Given the description of an element on the screen output the (x, y) to click on. 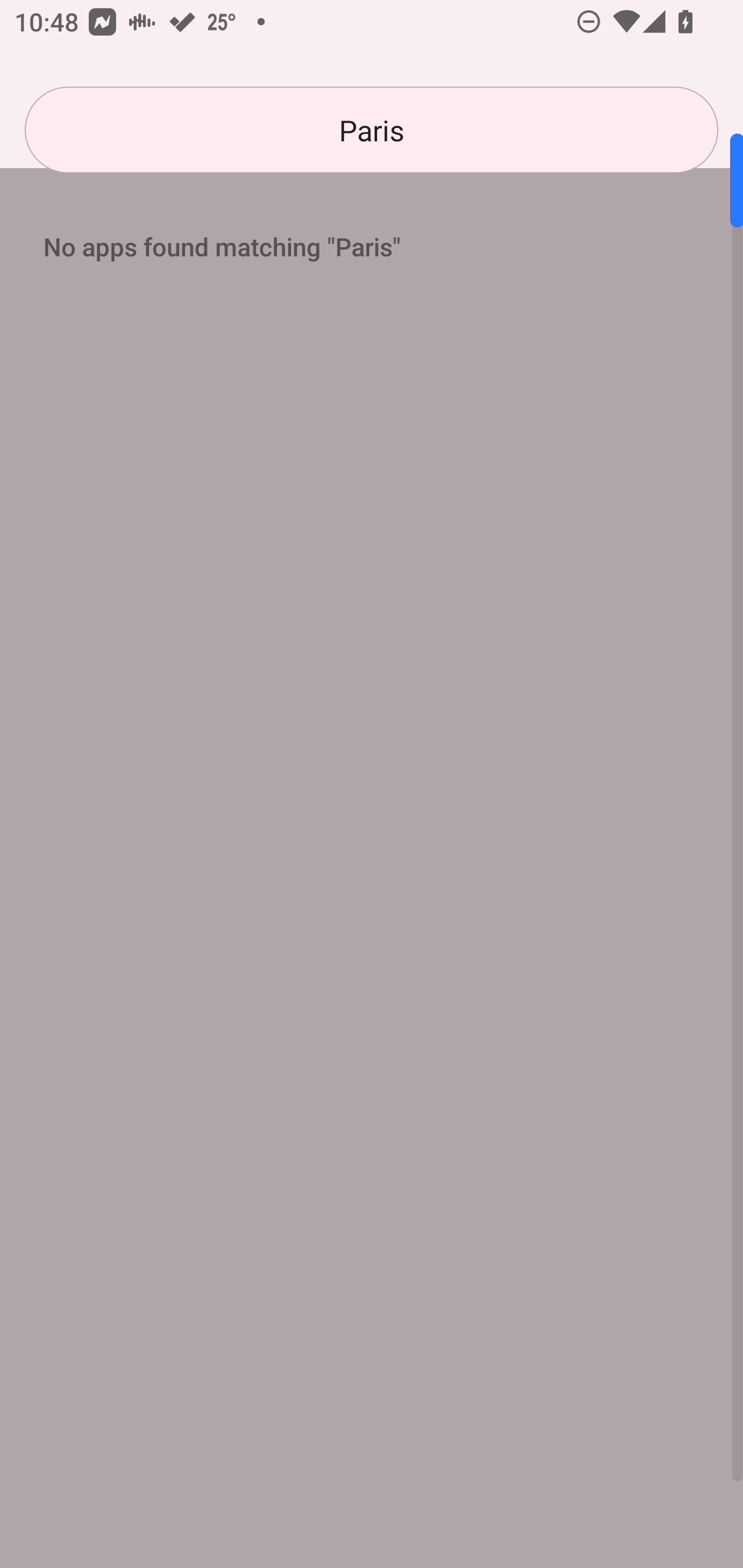
Paris (371, 130)
